Given the description of an element on the screen output the (x, y) to click on. 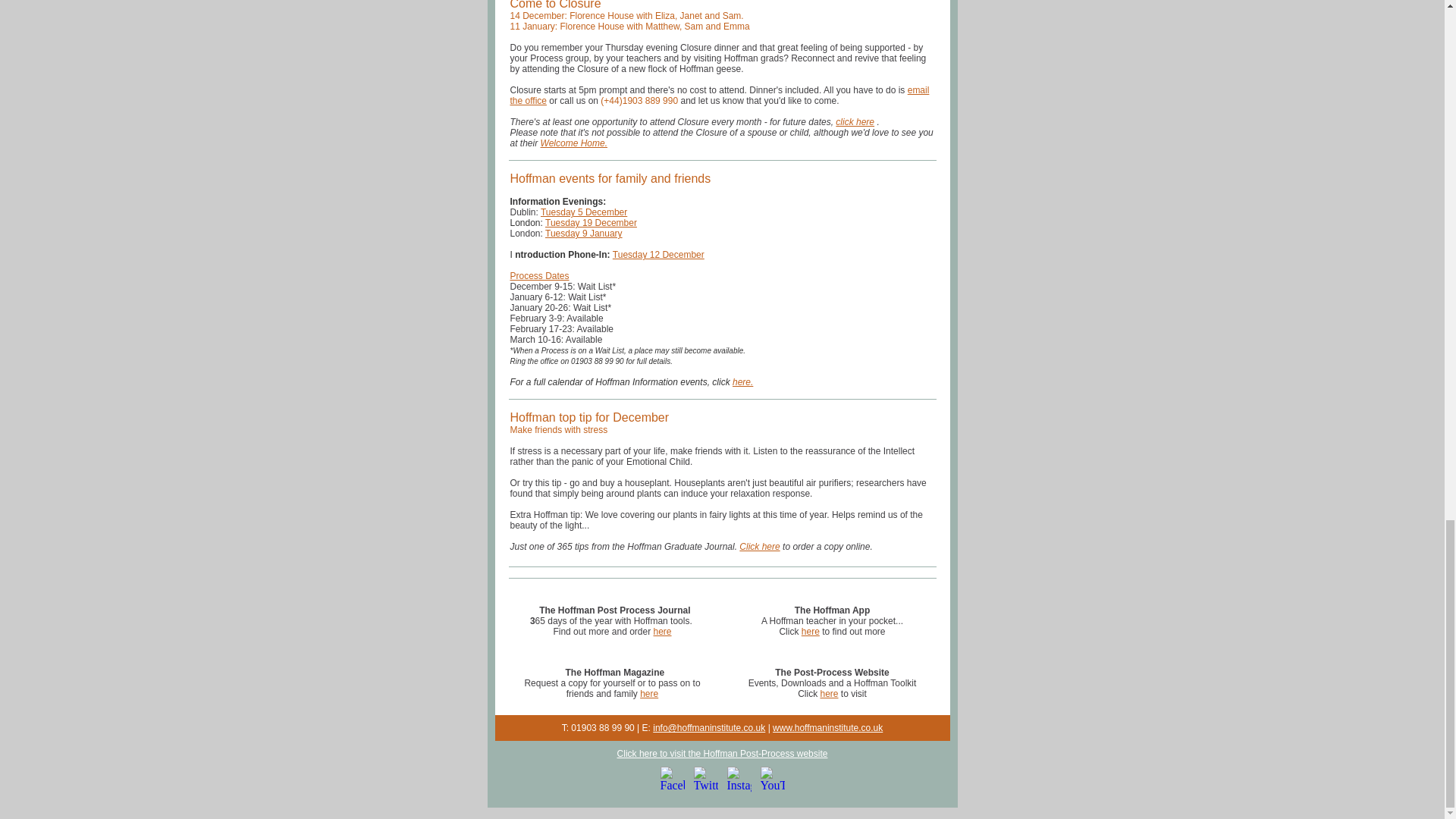
here. (742, 381)
Tuesday 5 December (583, 212)
Tuesday 19 December (590, 222)
Process Dates (539, 276)
Welcome Home. (573, 143)
Click here (758, 546)
here (810, 631)
email the office (718, 95)
click here (855, 122)
here (662, 631)
Tuesday 9 January (583, 233)
Tuesday 12 December (658, 254)
